Given the description of an element on the screen output the (x, y) to click on. 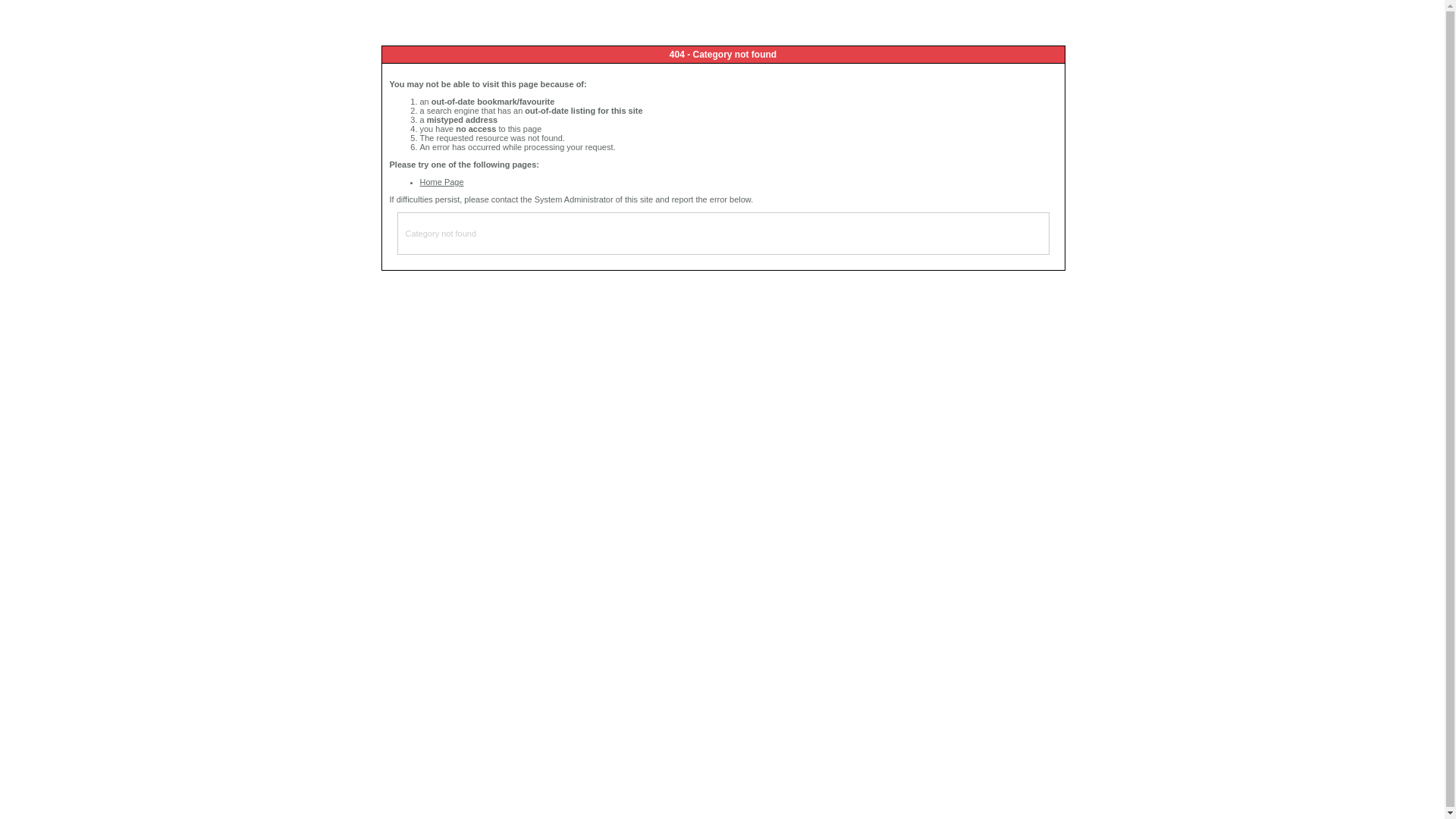
Home Page Element type: text (442, 181)
